Given the description of an element on the screen output the (x, y) to click on. 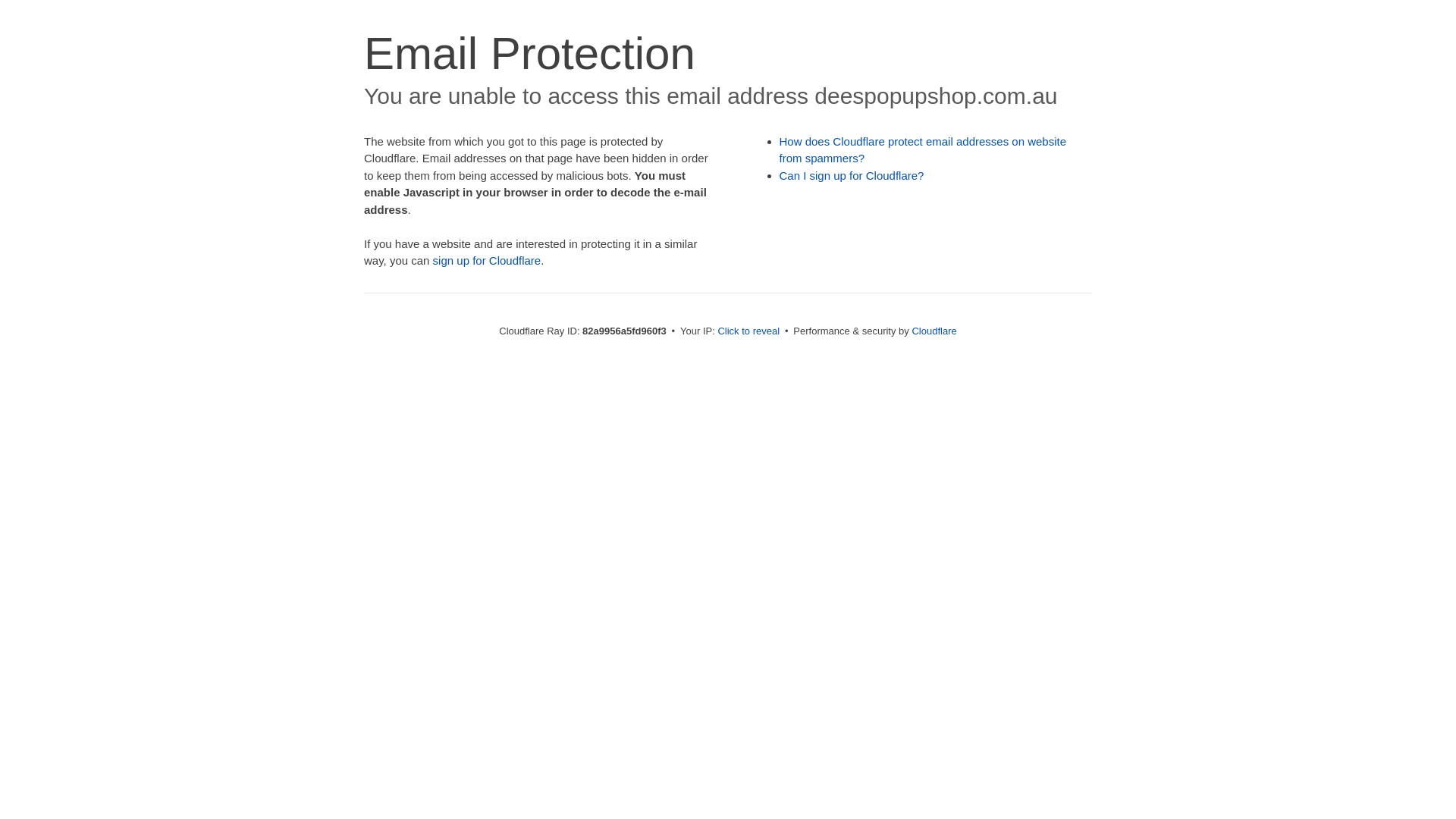
Can I sign up for Cloudflare? Element type: text (851, 175)
Cloudflare Element type: text (933, 330)
Click to reveal Element type: text (748, 330)
sign up for Cloudflare Element type: text (487, 260)
